Given the description of an element on the screen output the (x, y) to click on. 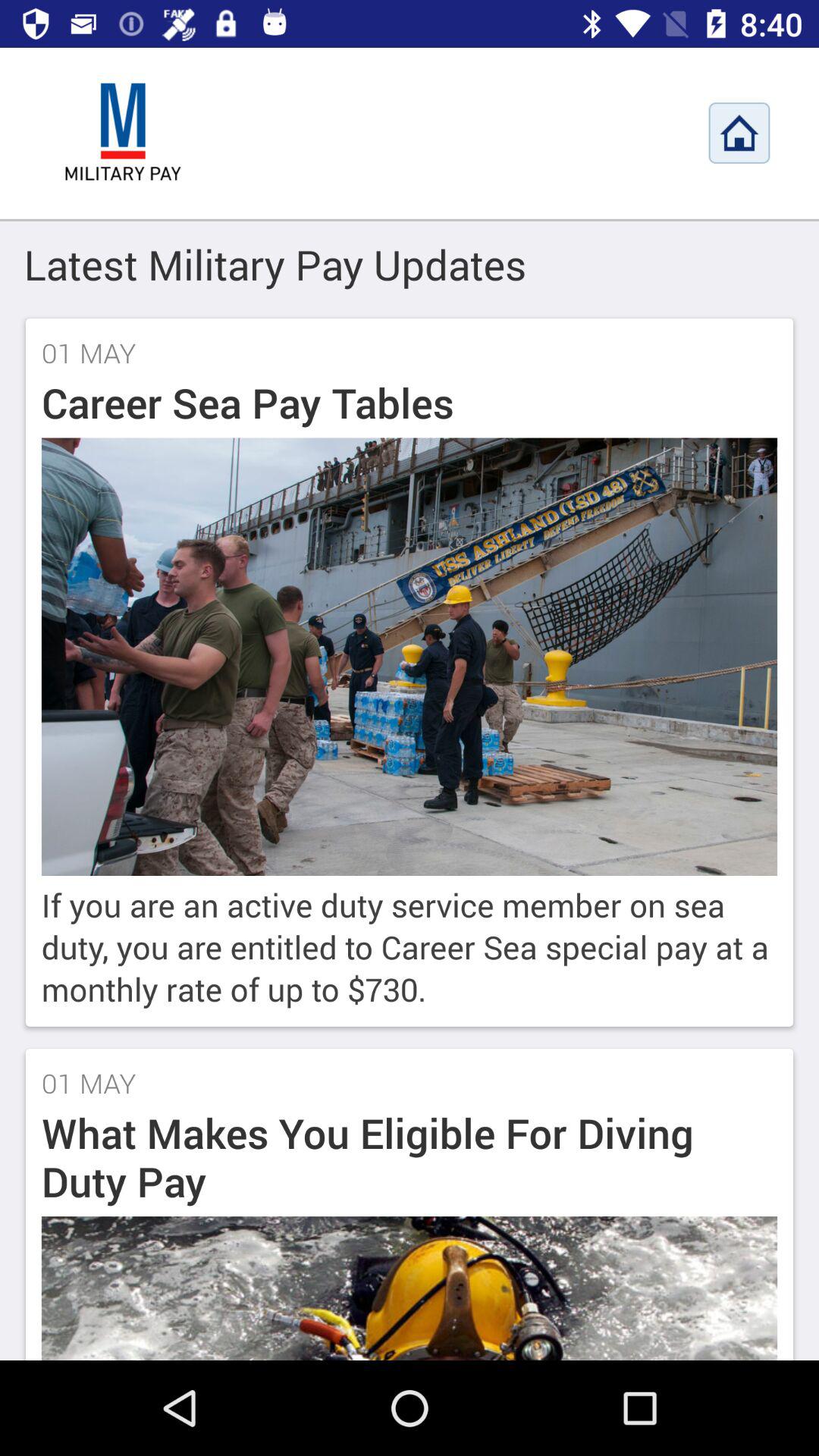
go to main screen (123, 132)
